Given the description of an element on the screen output the (x, y) to click on. 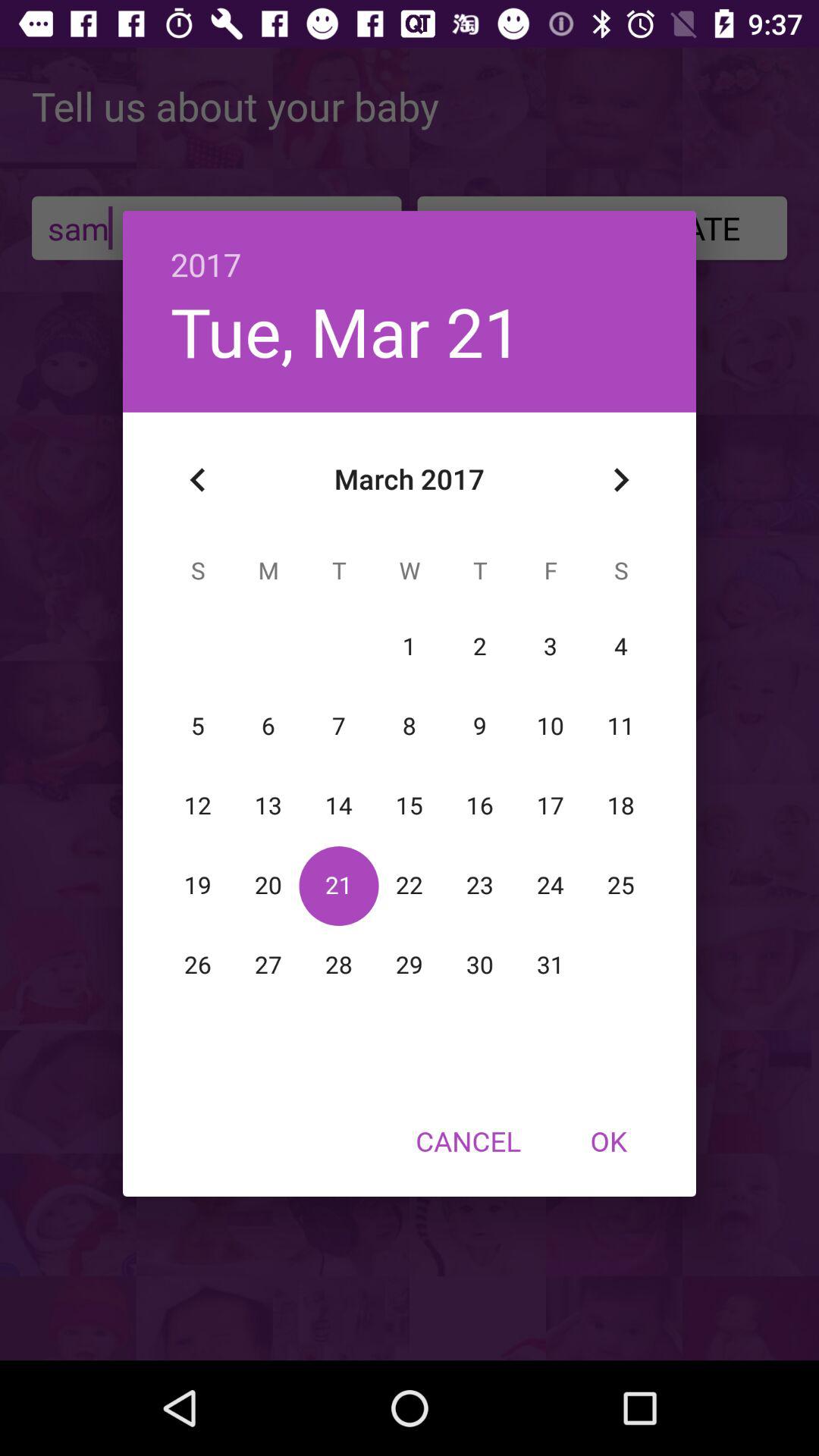
turn on item to the right of the cancel item (608, 1140)
